Given the description of an element on the screen output the (x, y) to click on. 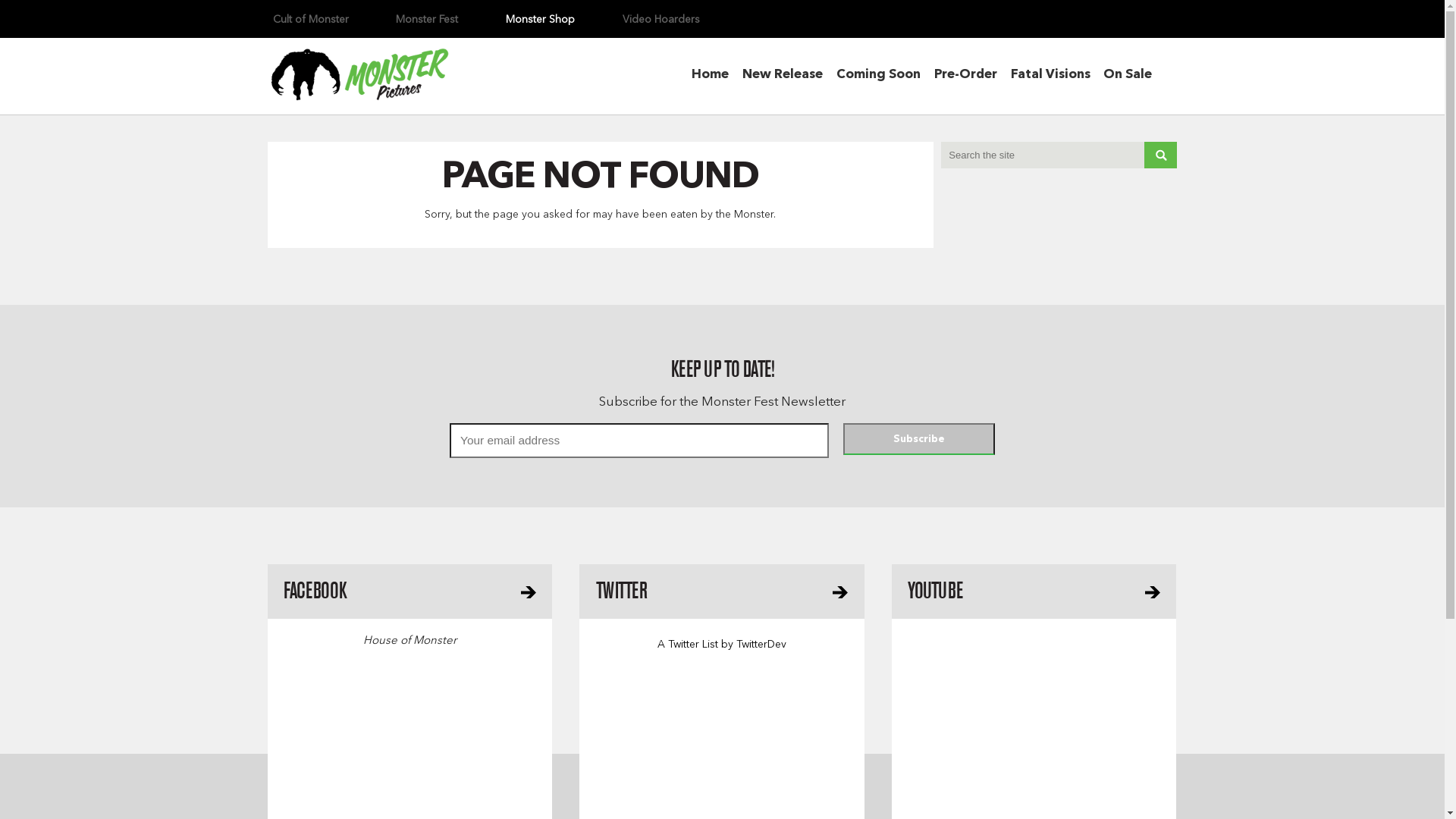
Video Hoarders Element type: text (661, 20)
Subscribe Element type: text (918, 439)
Fatal Visions Element type: text (1049, 77)
Home Element type: text (709, 77)
Go Element type: text (1160, 154)
A Twitter List by TwitterDev Element type: text (721, 648)
House of Monster Element type: text (409, 644)
Monster Shop Element type: text (540, 20)
Cult of Monster Element type: text (309, 20)
On Sale Element type: text (1127, 77)
Pre-Order Element type: text (965, 77)
New Release Element type: text (782, 77)
Coming Soon Element type: text (878, 77)
Monster Fest Element type: text (426, 20)
